Given the description of an element on the screen output the (x, y) to click on. 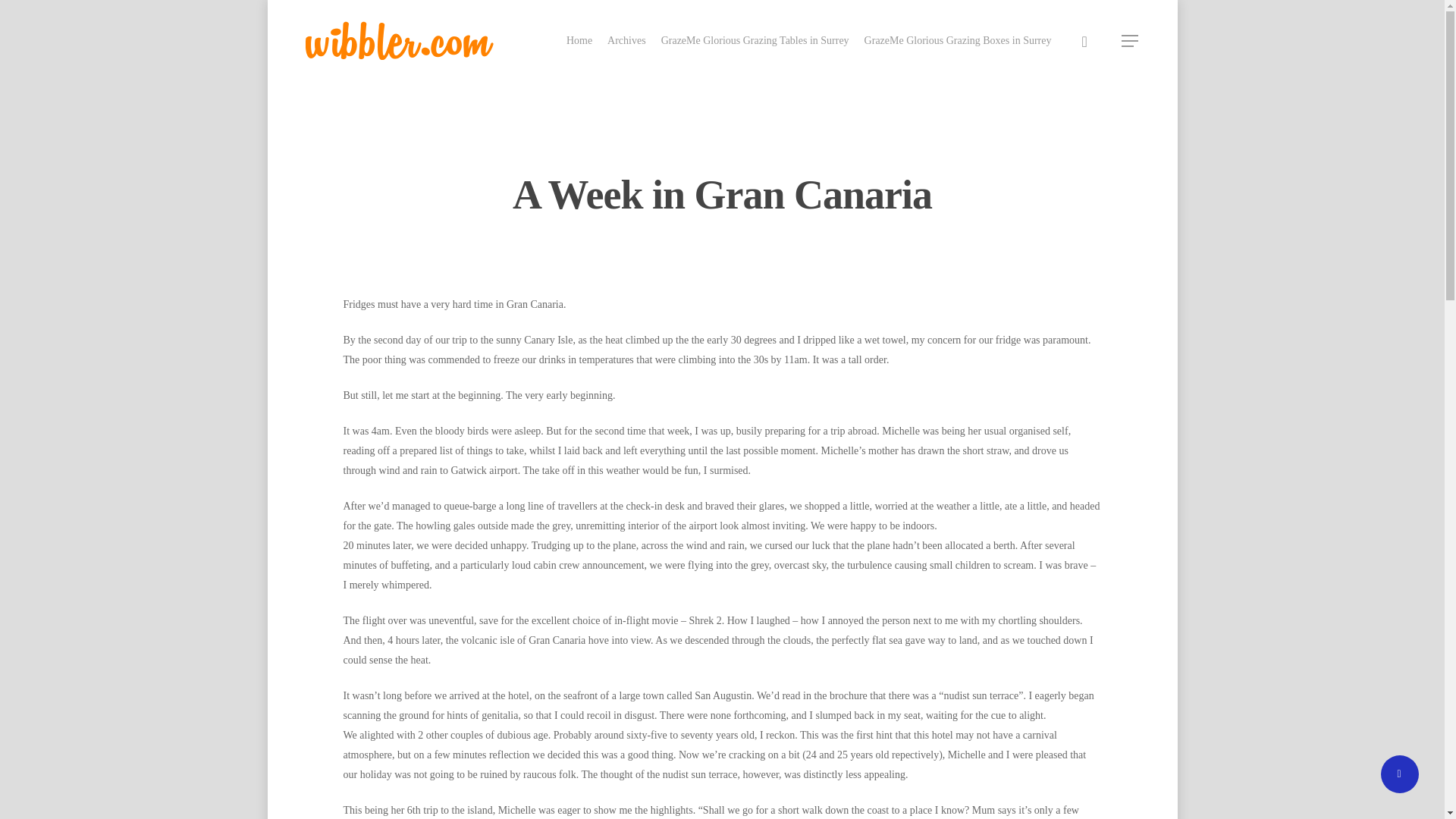
Home (579, 40)
GrazeMe Glorious Grazing Boxes in Surrey (957, 40)
GrazeMe Glorious Grazing Tables in Surrey (754, 40)
Archives (626, 40)
